Given the description of an element on the screen output the (x, y) to click on. 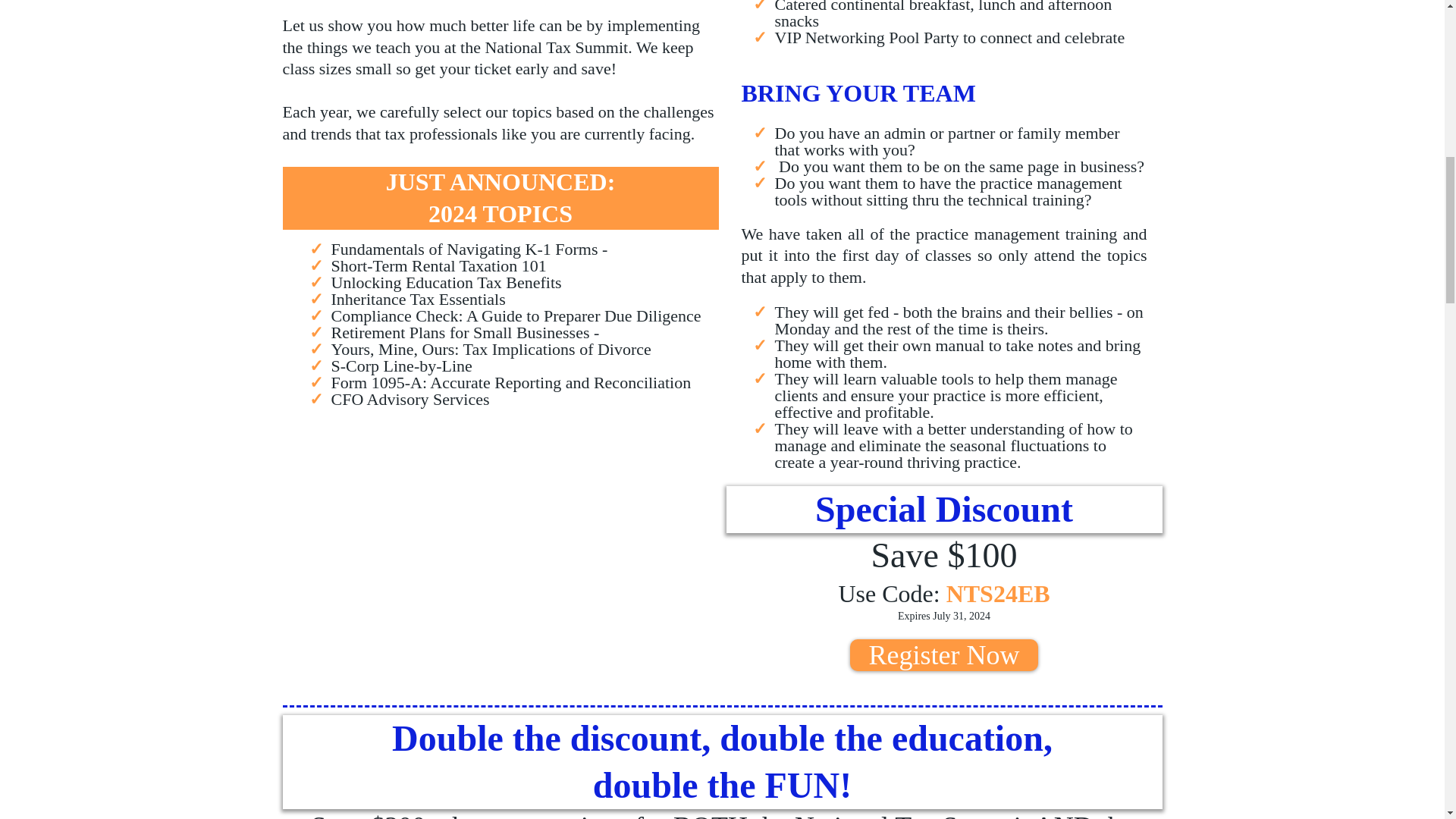
Register Now (944, 654)
